Given the description of an element on the screen output the (x, y) to click on. 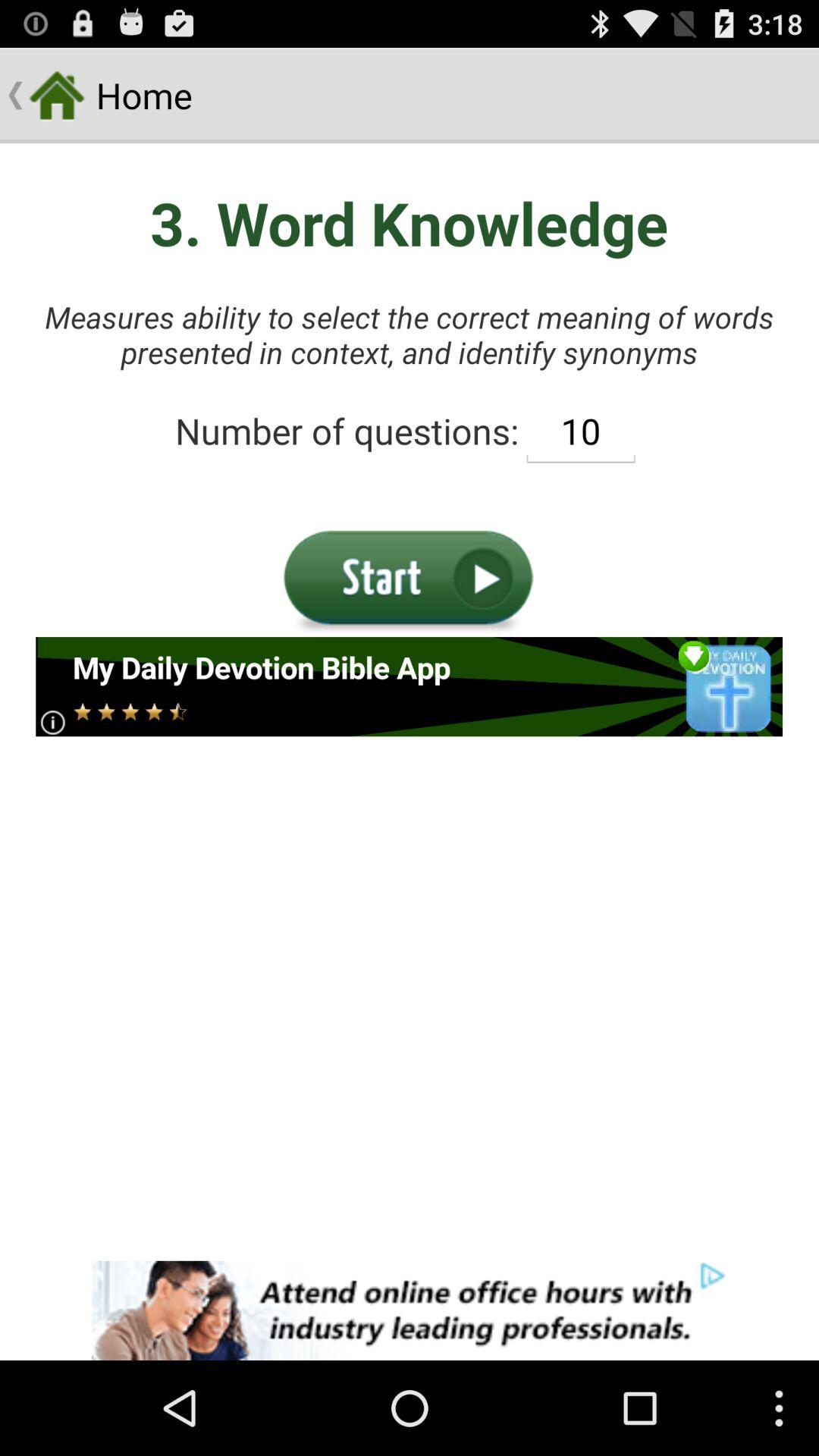
banner advertisements (409, 1310)
